Given the description of an element on the screen output the (x, y) to click on. 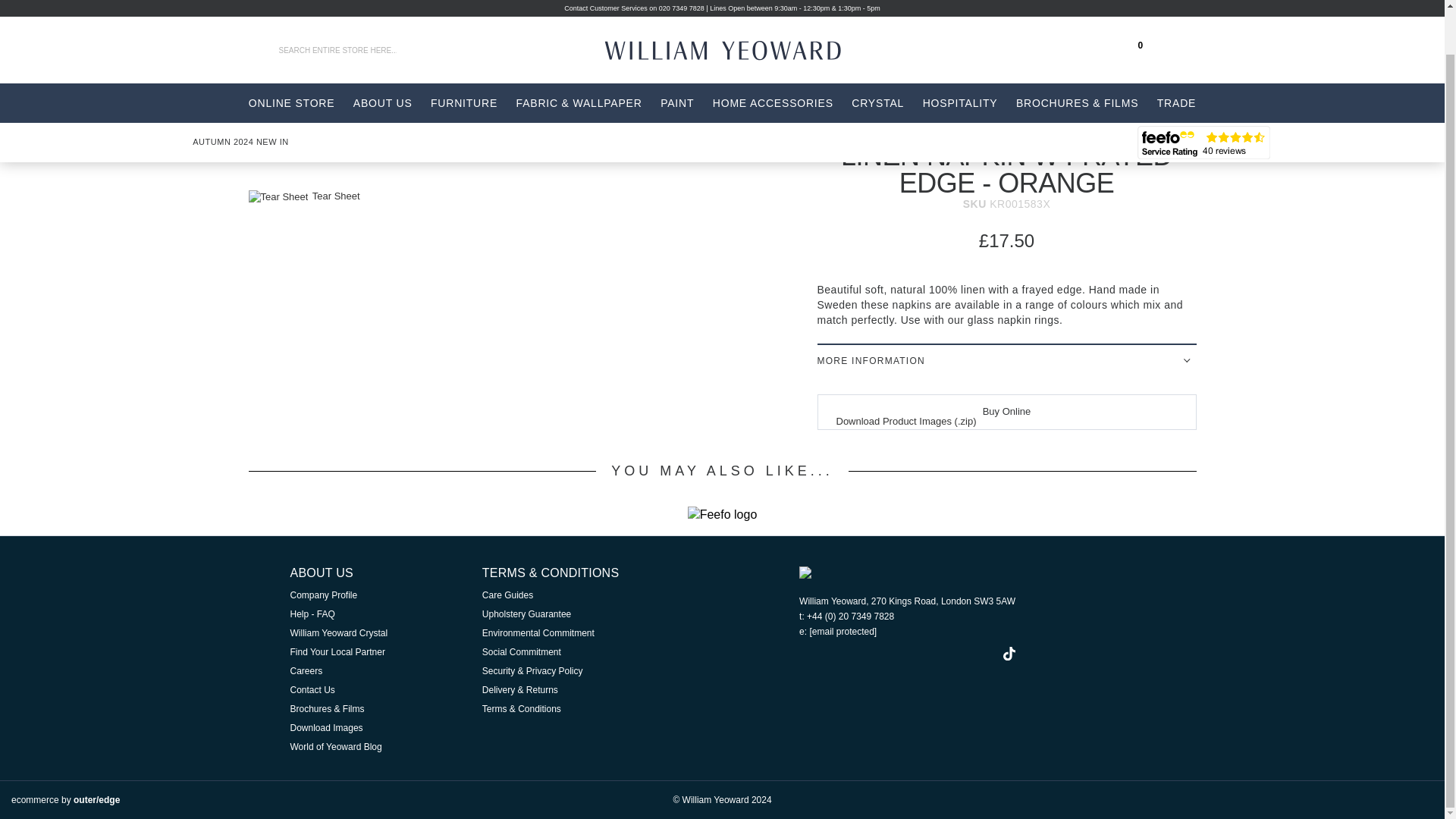
William Yeoward (739, 15)
AUTUMN 2024 NEW IN (240, 94)
Go to Home Page (263, 118)
See what our customers say about us (1203, 95)
ONLINE STORE (291, 56)
William Yeoward (740, 11)
